Given the description of an element on the screen output the (x, y) to click on. 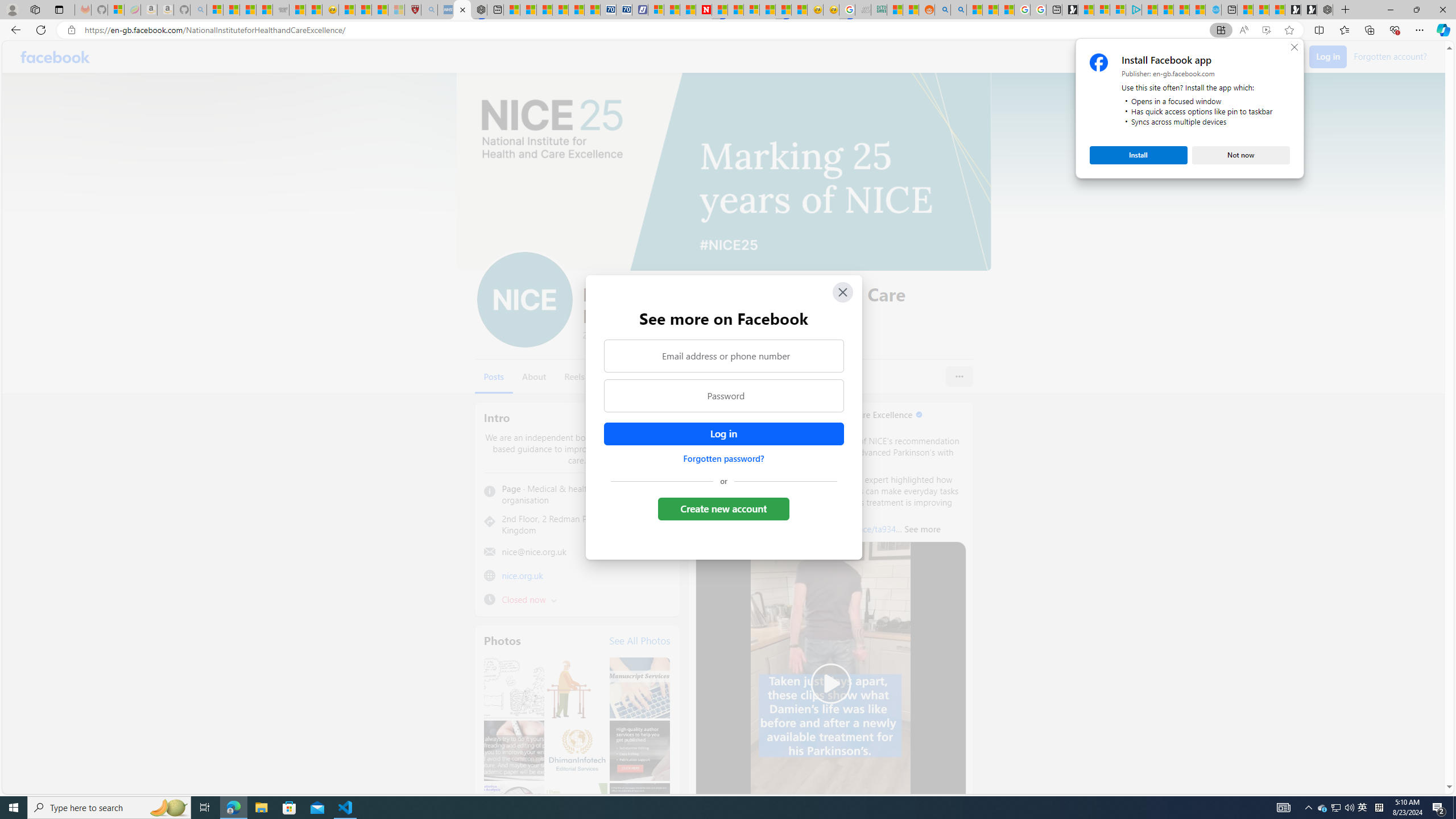
Forgotten password? (723, 458)
Facebook (55, 56)
Create new account (724, 508)
Running applications (700, 807)
